Given the description of an element on the screen output the (x, y) to click on. 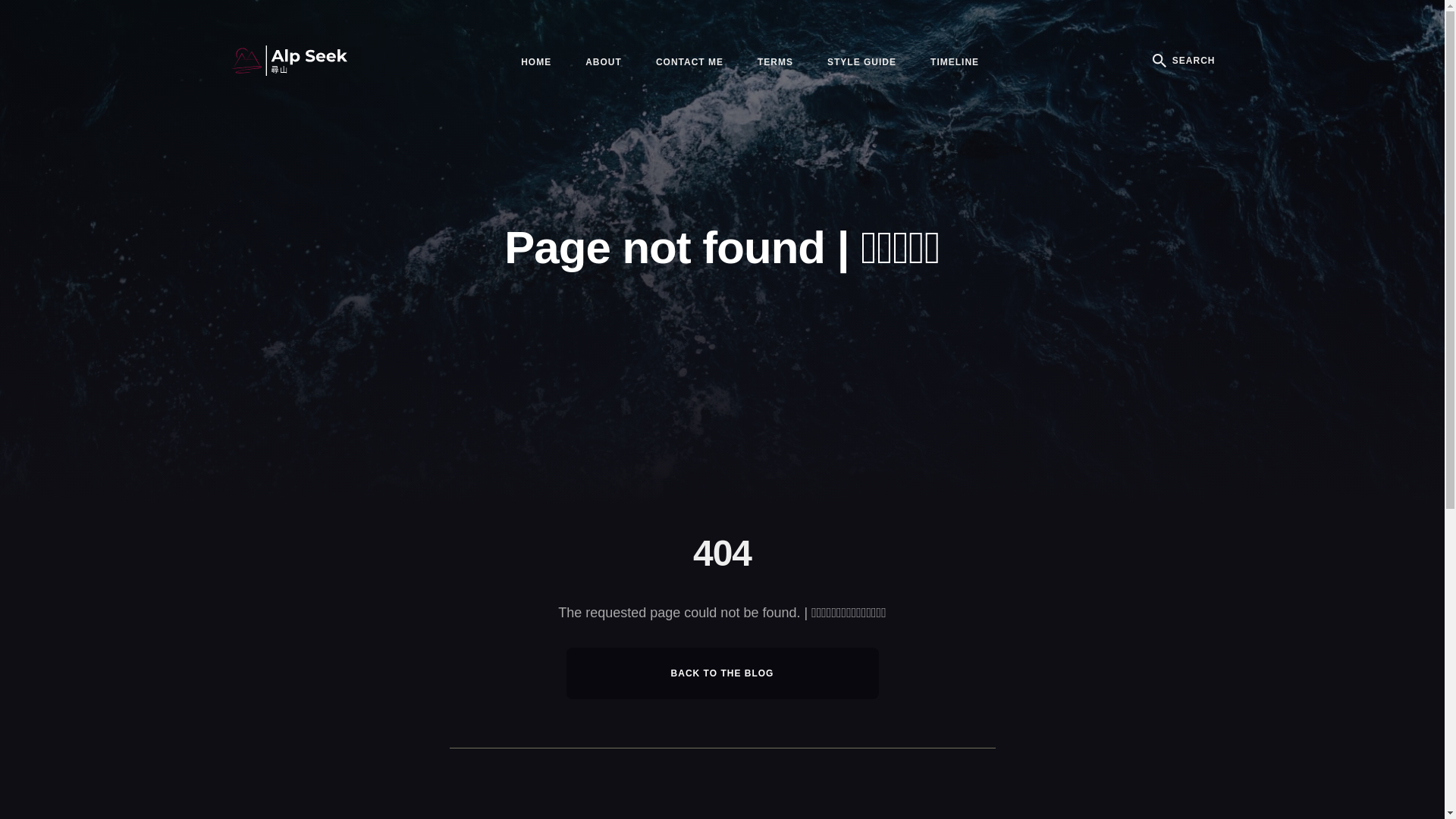
TIMELINE Element type: text (954, 61)
HOME Element type: text (535, 61)
BACK TO THE BLOG Element type: text (721, 673)
STYLE GUIDE Element type: text (861, 61)
TERMS Element type: text (775, 61)
CONTACT ME Element type: text (689, 61)
ABOUT Element type: text (603, 61)
